Given the description of an element on the screen output the (x, y) to click on. 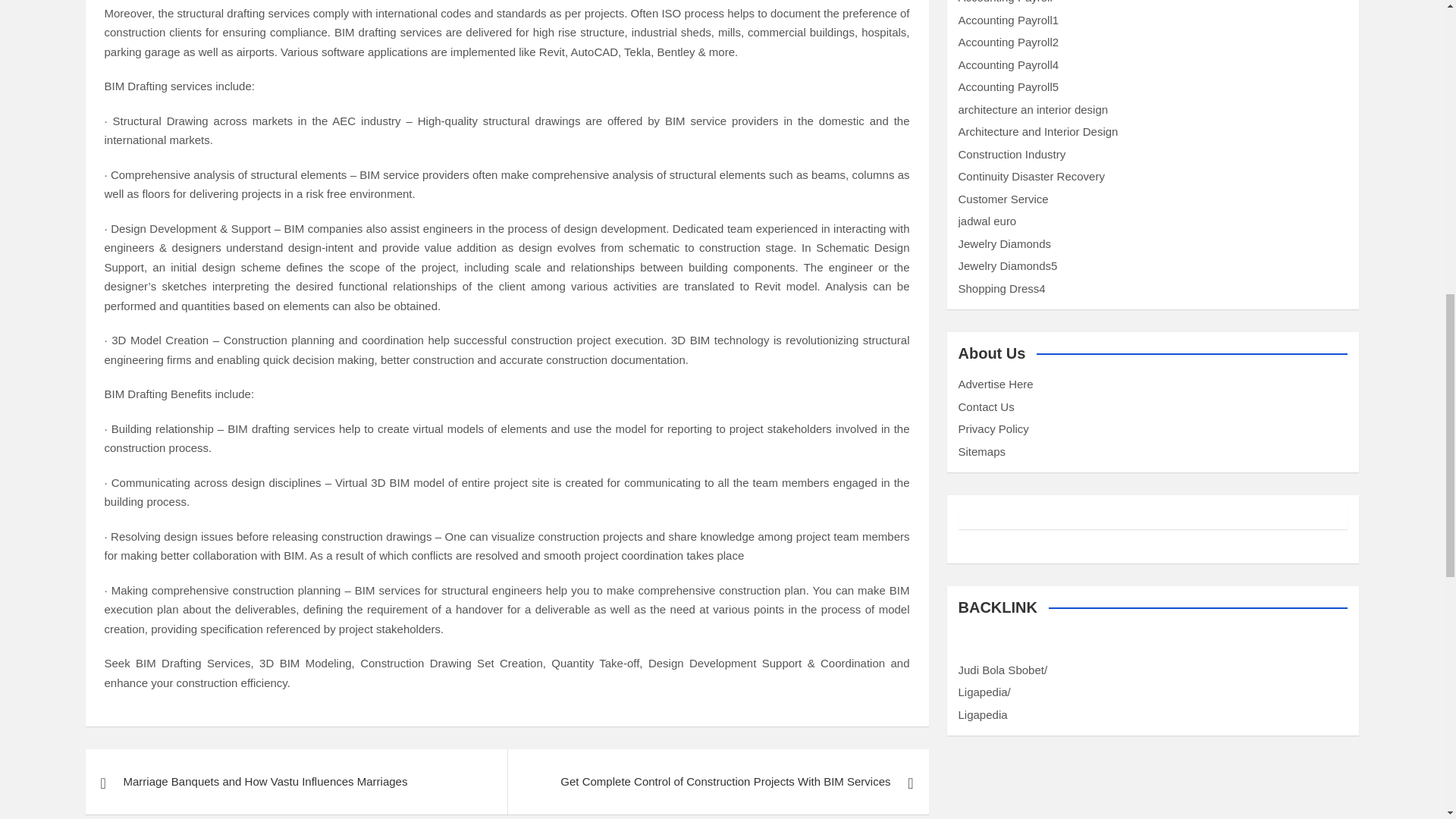
Marriage Banquets and How Vastu Influences Marriages (295, 781)
Accounting Payroll (1005, 2)
